Given the description of an element on the screen output the (x, y) to click on. 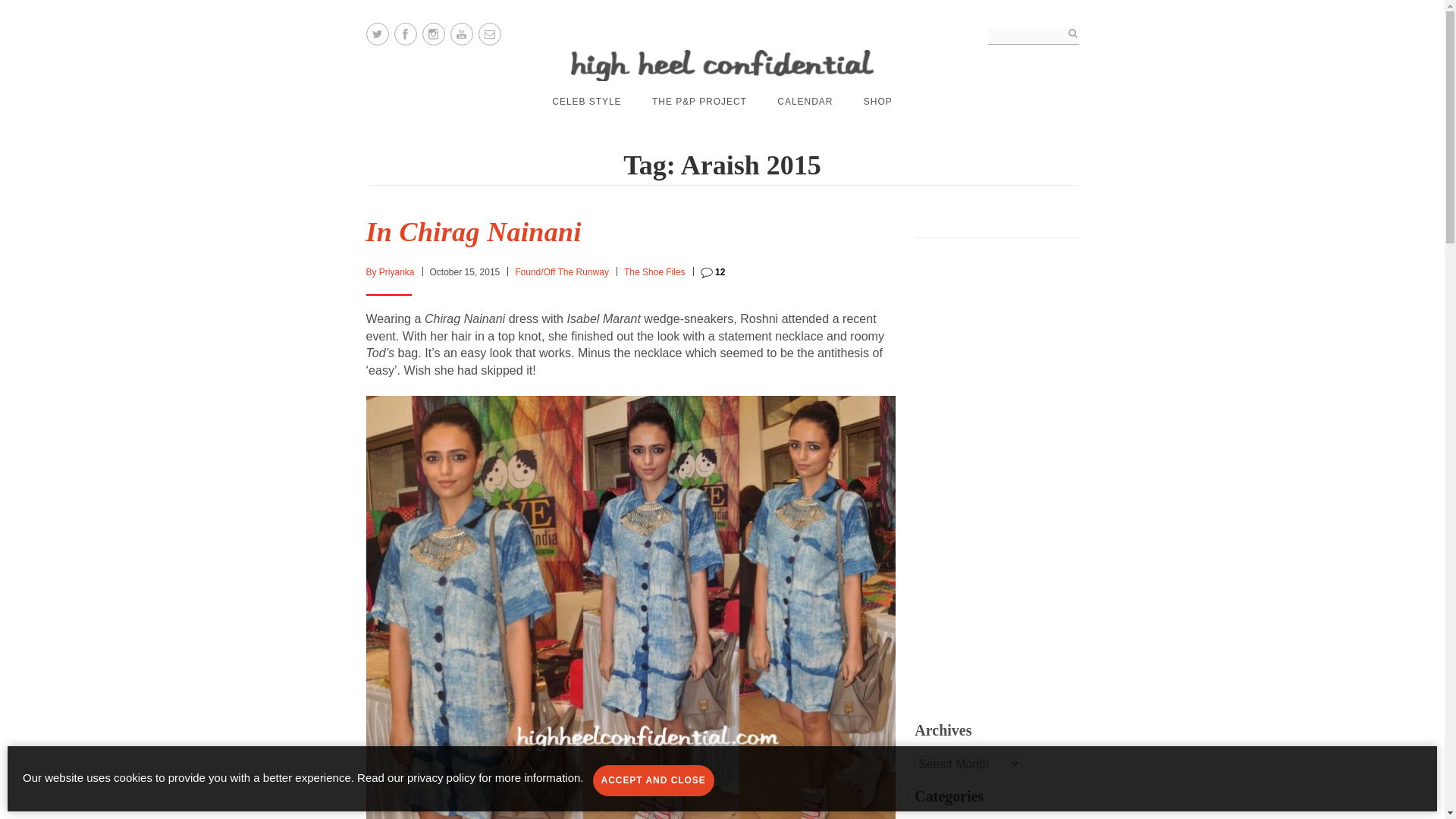
12 (712, 271)
The Shoe Files (654, 271)
SHOP (877, 101)
By Priyanka (389, 271)
CALENDAR (804, 101)
In Chirag Nainani (472, 232)
CELEB STYLE (586, 101)
High Heel Confidential (721, 65)
